Given the description of an element on the screen output the (x, y) to click on. 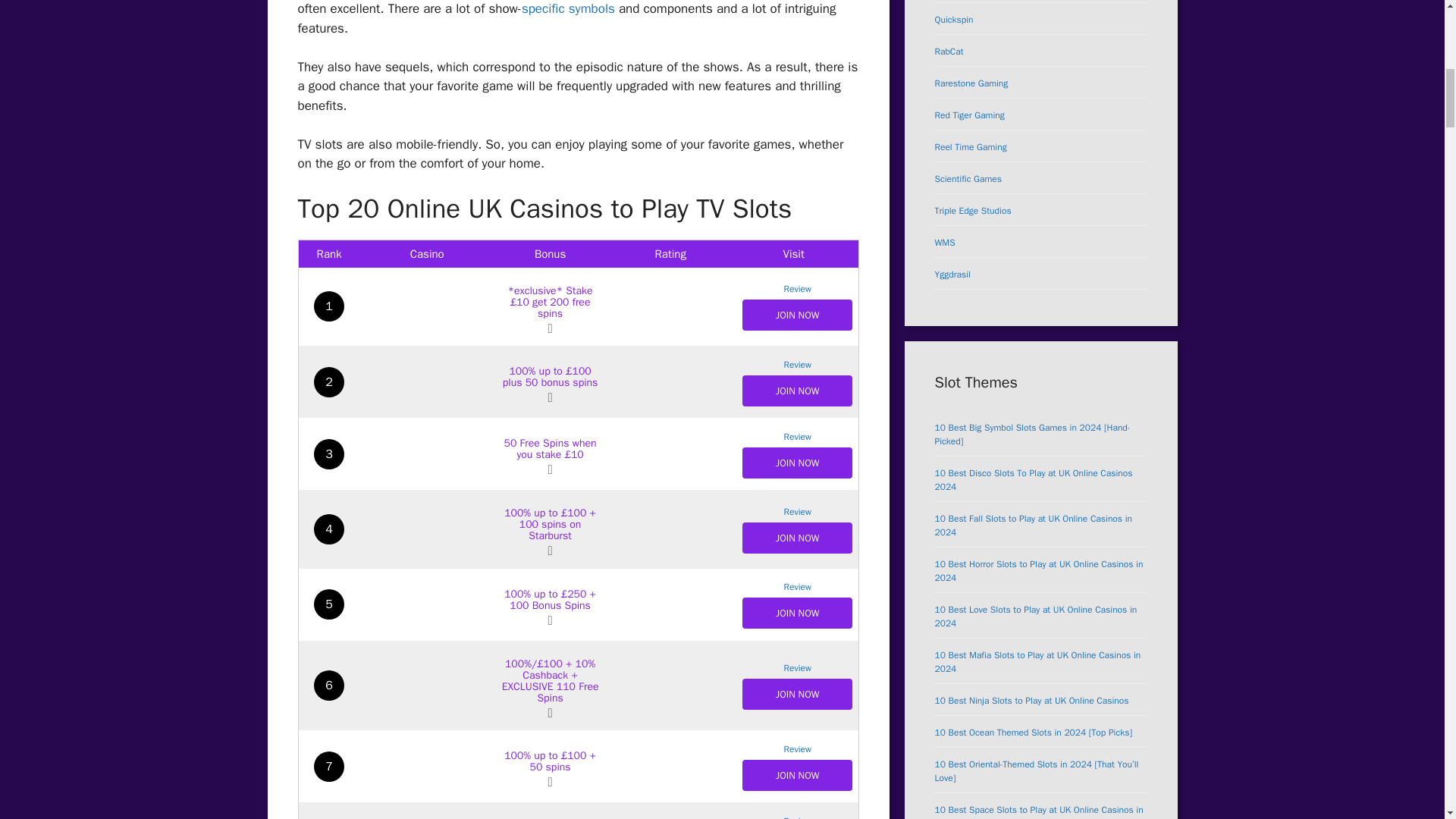
Betfred Casino (796, 288)
William Hill Vegas (796, 436)
Play Frank (427, 381)
William Hill Vegas (427, 453)
Review (796, 436)
Betfred Casino (427, 306)
specific symbols (567, 8)
Review (796, 288)
Cosmic Spins (796, 511)
Play Frank (796, 364)
JOIN NOW (796, 390)
JOIN NOW (796, 314)
Review (796, 364)
Cosmic Spins (427, 528)
JOIN NOW (796, 462)
